Given the description of an element on the screen output the (x, y) to click on. 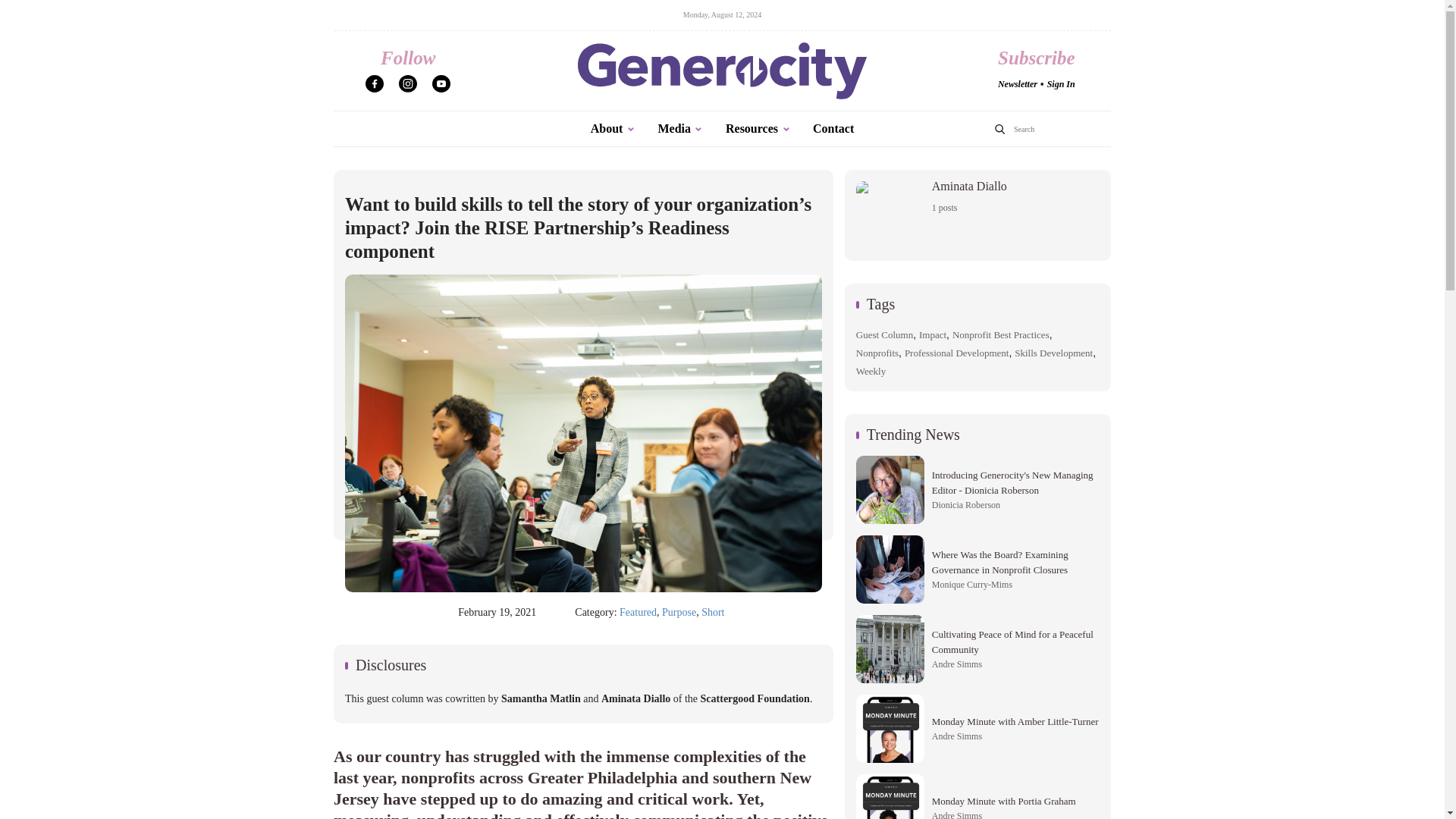
About (612, 128)
Resources (757, 128)
Impact (932, 334)
Professional Development (977, 215)
Featured (956, 352)
Nonprofit Best Practices (638, 612)
Purpose (1000, 334)
Nonprofits (678, 612)
Newsletter (877, 352)
